Given the description of an element on the screen output the (x, y) to click on. 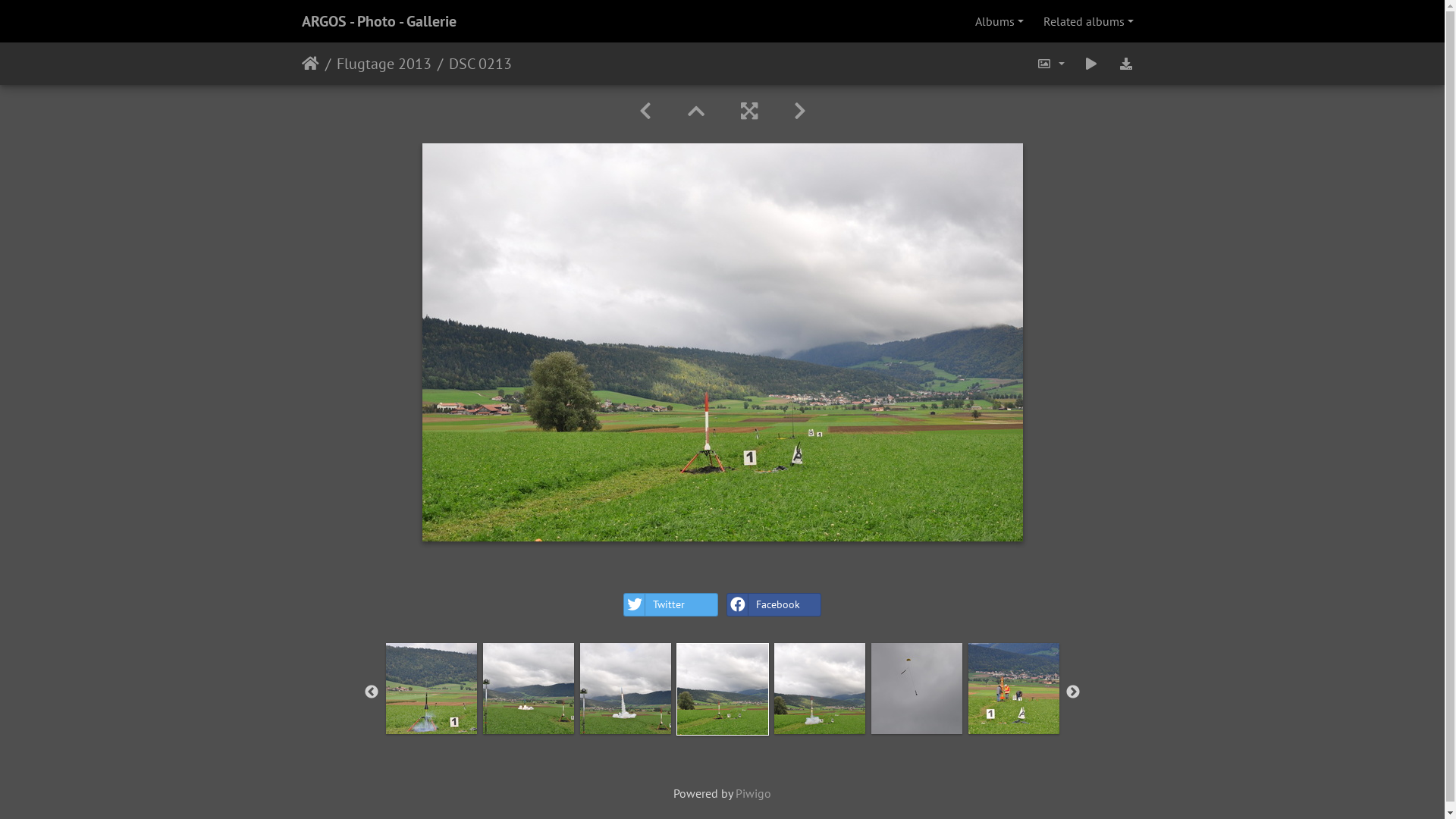
Albums Element type: text (999, 21)
ARGOS - Photo - Gallerie Element type: text (378, 21)
DSC 0213 - DSC_0213.JPG Element type: hover (721, 342)
slideshow Element type: hover (1090, 63)
Download this file Element type: hover (1125, 63)
Previous Element type: text (371, 691)
Next Element type: text (1072, 691)
Twitter Element type: text (670, 604)
Previous : DSC 0212 Element type: hover (644, 110)
Facebook Element type: text (773, 604)
Thumbnails Element type: hover (694, 110)
Home Element type: text (310, 63)
Related albums Element type: text (1088, 21)
Photo sizes Element type: hover (1050, 63)
Flugtage 2013 Element type: text (374, 63)
Piwigo Element type: text (753, 792)
Next : DSC 0214 Element type: hover (799, 110)
Fullscreen Element type: hover (748, 110)
